Given the description of an element on the screen output the (x, y) to click on. 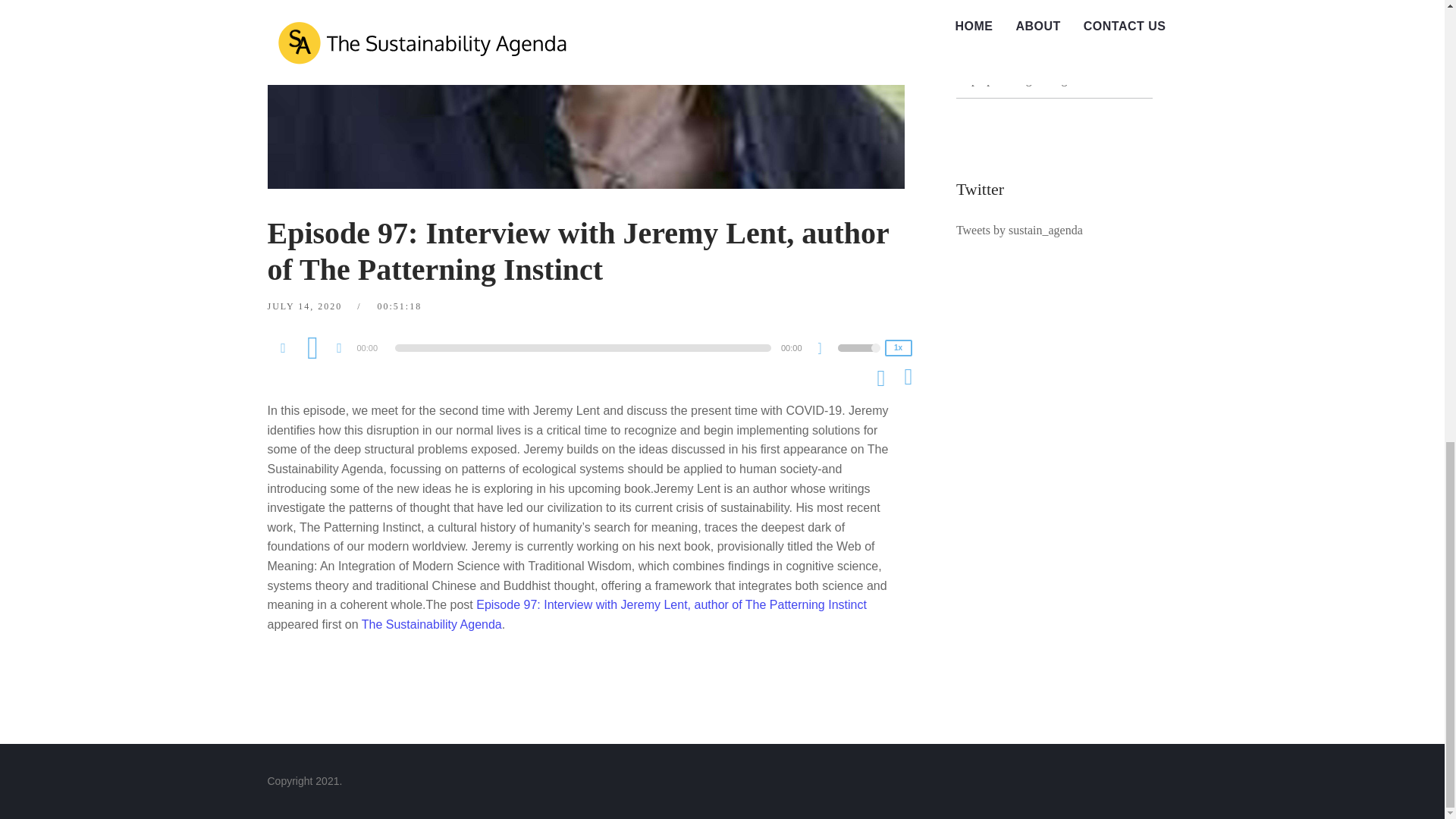
1x (897, 347)
The Sustainability Agenda (431, 624)
Play (312, 347)
Speed Rate (897, 347)
Mute (824, 350)
